Given the description of an element on the screen output the (x, y) to click on. 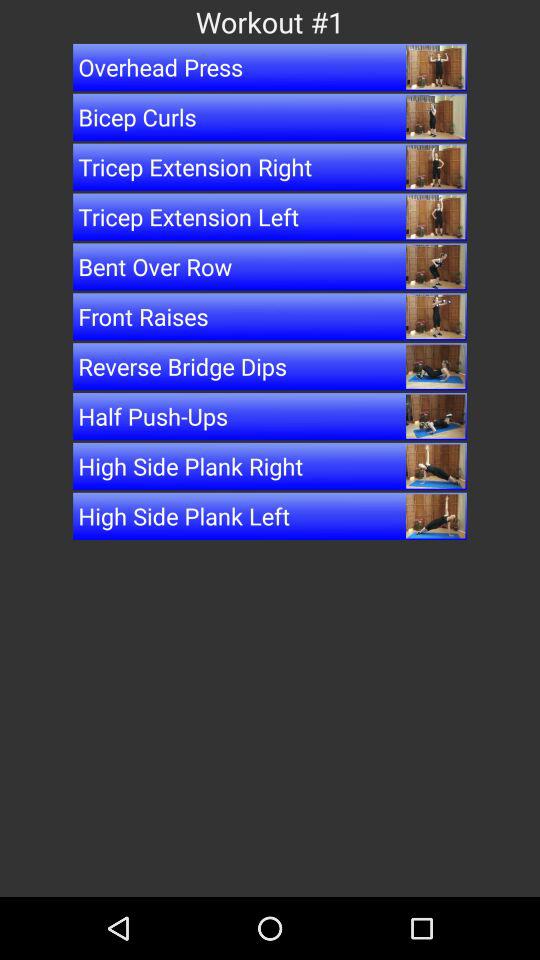
turn off icon below front raises icon (269, 366)
